Given the description of an element on the screen output the (x, y) to click on. 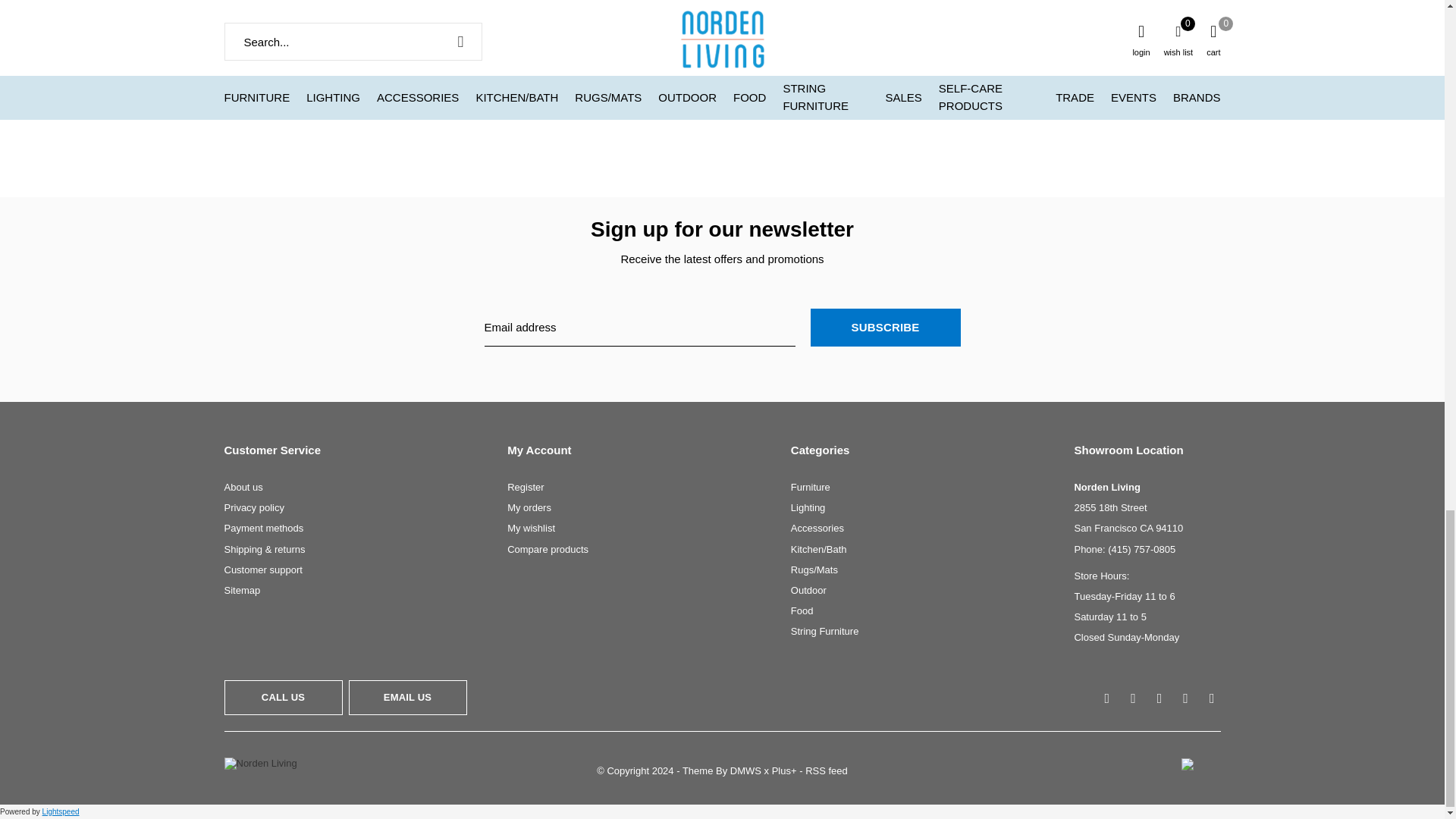
Lightspeed (61, 811)
My wishlist (530, 527)
Register (524, 487)
My orders (528, 507)
